Given the description of an element on the screen output the (x, y) to click on. 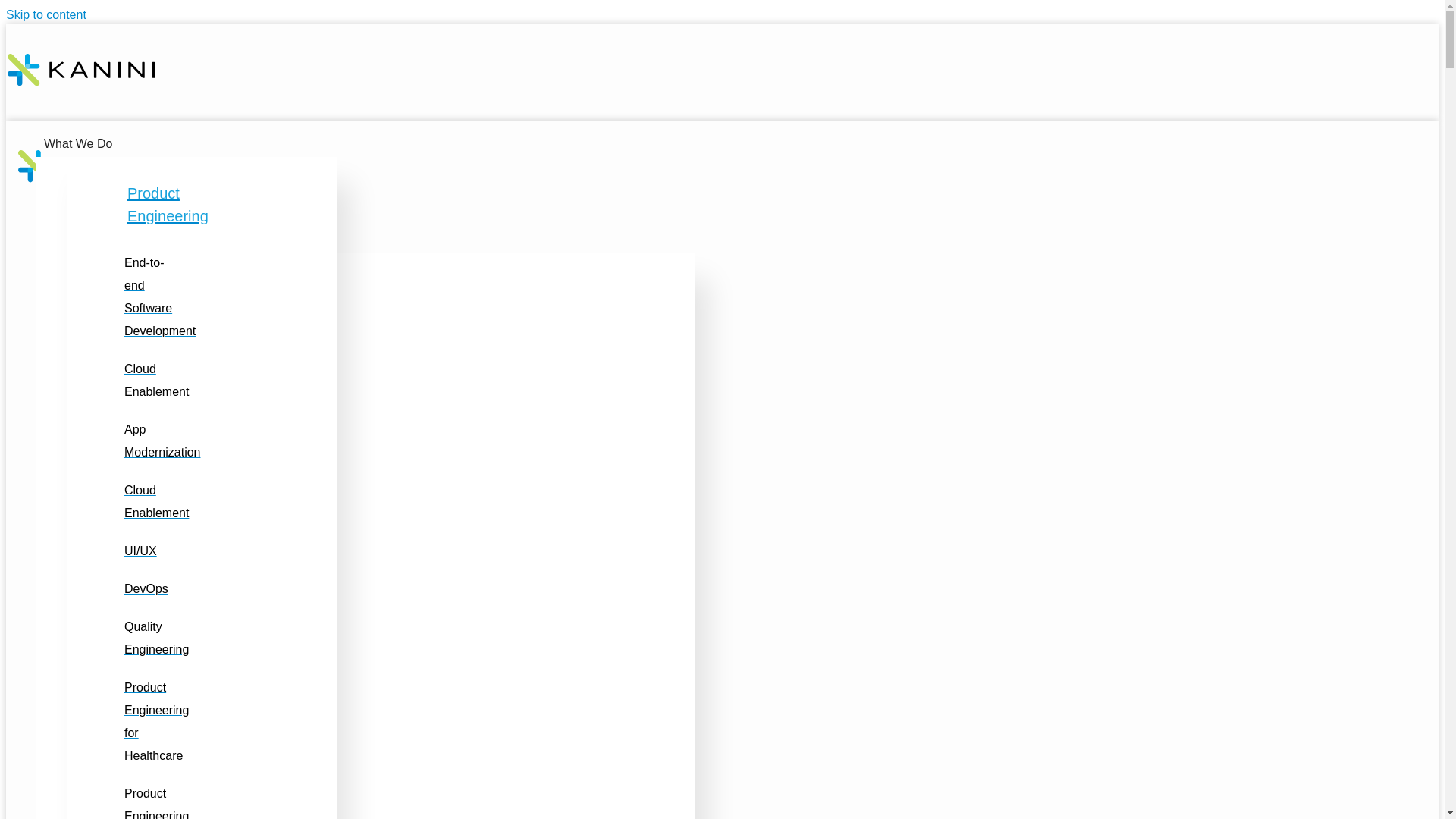
Product Engineering (168, 204)
Cloud Enablement (156, 380)
Quality Engineering (156, 637)
What We Do (77, 143)
DevOps (145, 588)
Cloud Enablement (156, 501)
App Modernization (161, 440)
Product Engineering for Healthcare (156, 803)
Skip to content (45, 14)
